Given the description of an element on the screen output the (x, y) to click on. 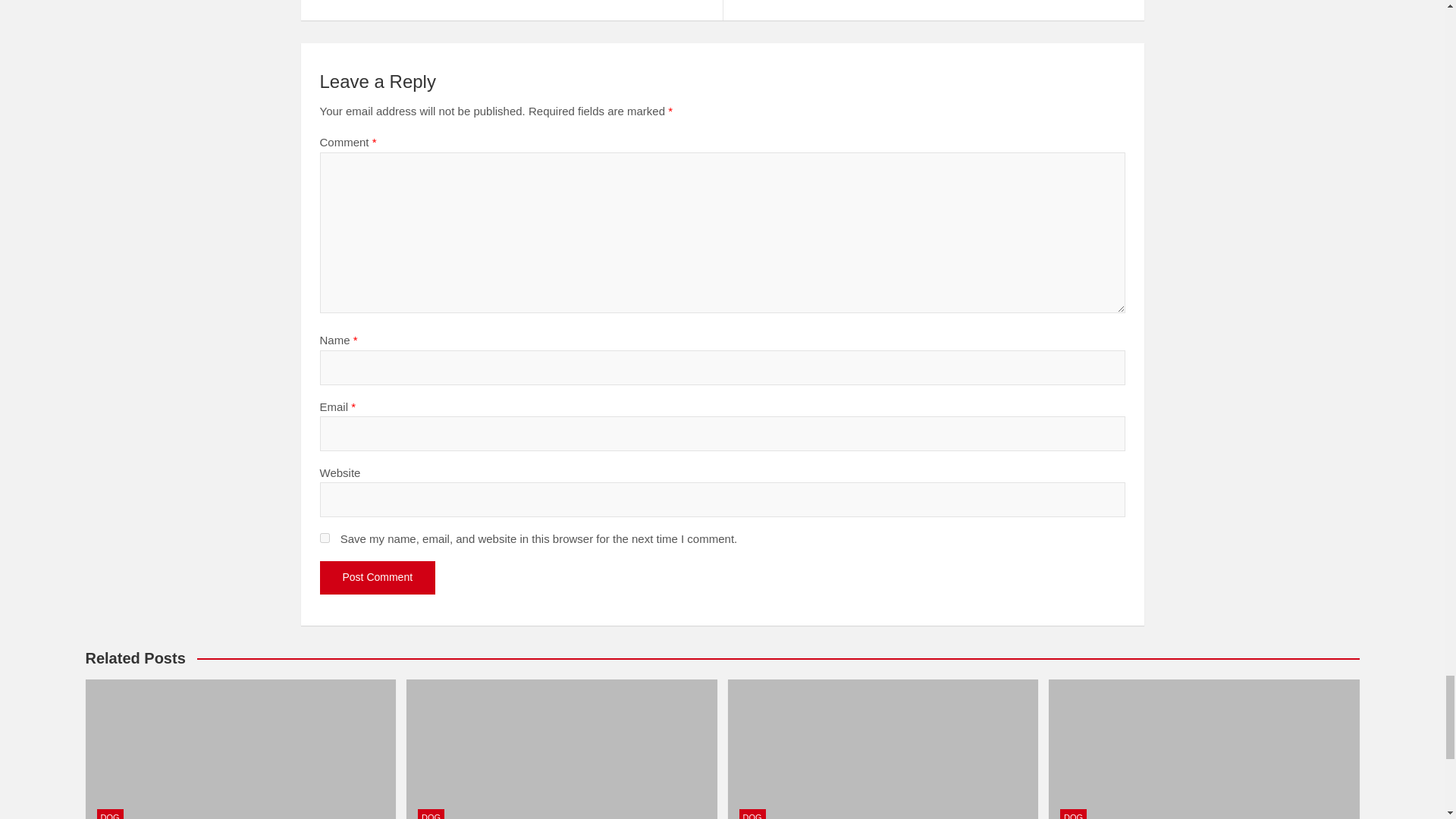
Post Comment (377, 577)
yes (325, 537)
